Given the description of an element on the screen output the (x, y) to click on. 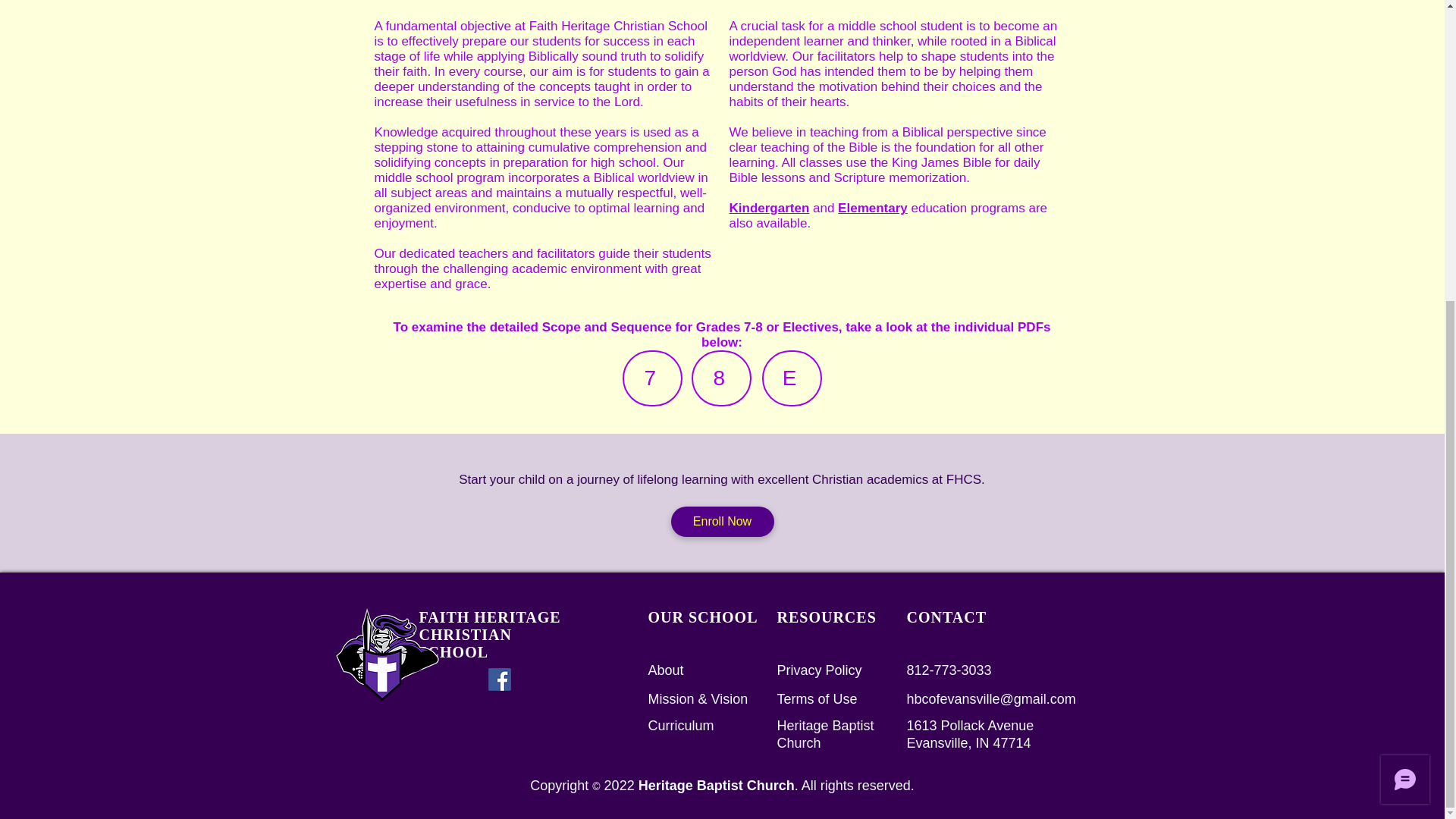
Elementary (872, 207)
Enroll Now (721, 521)
8 (721, 378)
Heritage Baptist Church (824, 734)
7 (651, 378)
Privacy Policy (818, 670)
Terms of Use (816, 698)
Curriculum (680, 725)
E (791, 378)
Heritage Baptist Church (716, 785)
